Given the description of an element on the screen output the (x, y) to click on. 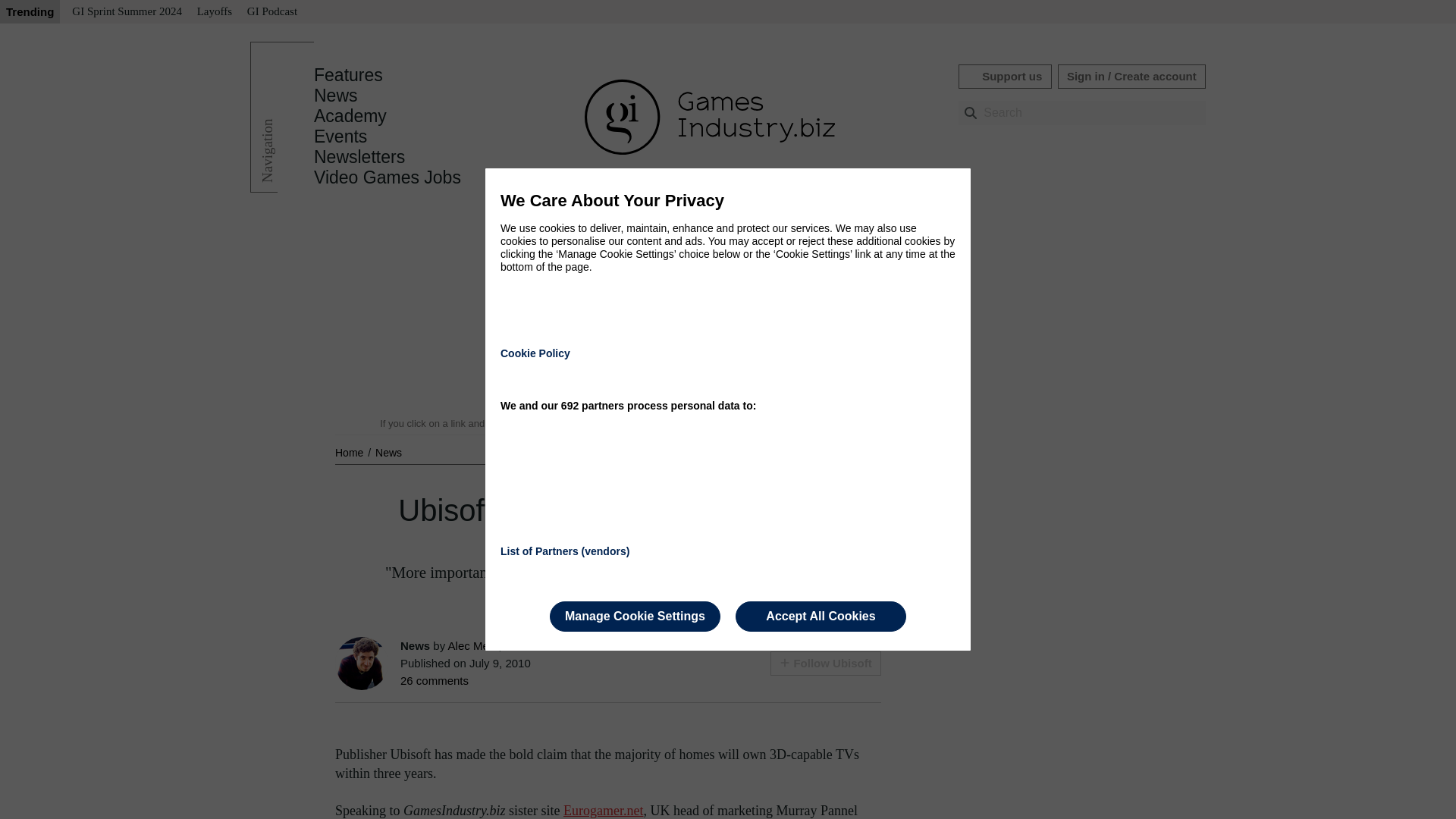
Alec Meer (473, 645)
Newsletters (359, 157)
News (388, 452)
GI Podcast (271, 11)
Video Games Jobs (387, 177)
Layoffs (214, 11)
GI Sprint Summer 2024 (126, 11)
News (336, 95)
Features (348, 75)
GI Podcast (271, 11)
Video Games Jobs (387, 177)
Home (350, 452)
Events (340, 136)
Home (350, 452)
GI Sprint Summer 2024 (126, 11)
